Given the description of an element on the screen output the (x, y) to click on. 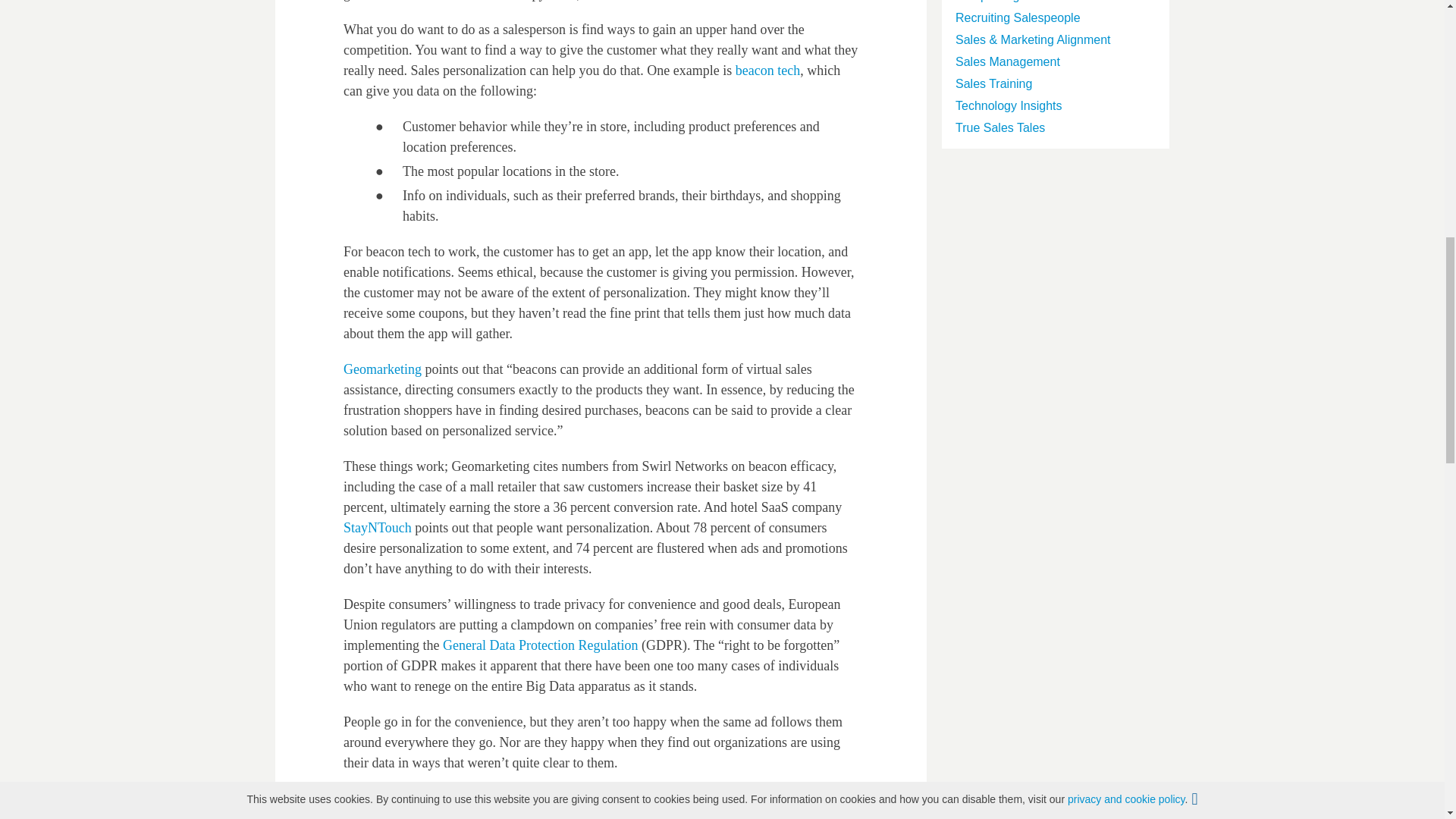
beacon tech (767, 70)
Geomarketing (382, 368)
General Data Protection Regulation (539, 645)
Mark Zuckerberg is set to face congress (518, 798)
StayNTouch (377, 527)
